Given the description of an element on the screen output the (x, y) to click on. 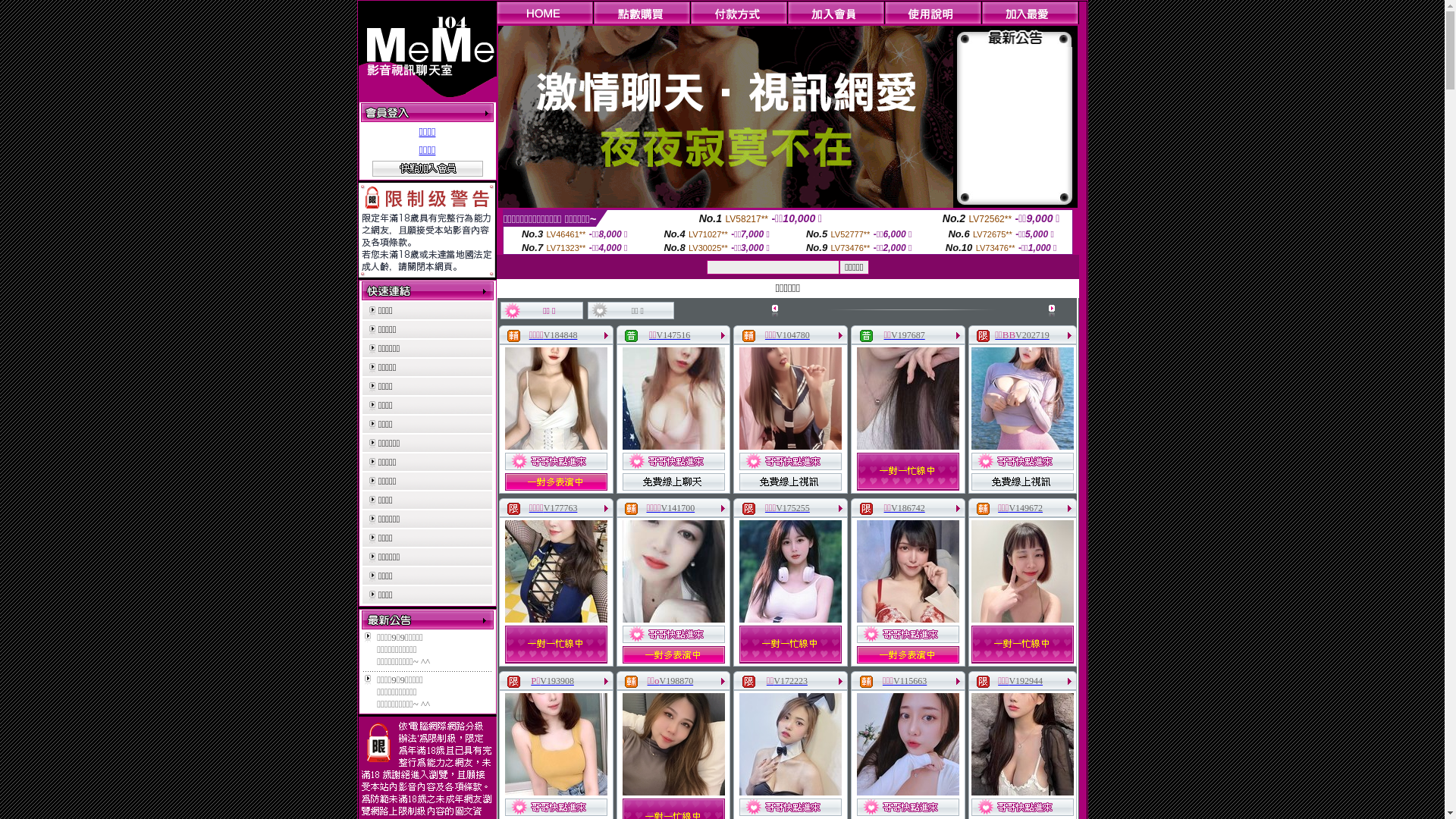
V147516 Element type: text (673, 334)
V172223 Element type: text (790, 680)
V186742 Element type: text (908, 507)
V149672 Element type: text (1025, 507)
V197687 Element type: text (908, 334)
V141700 Element type: text (677, 507)
V104780 Element type: text (792, 334)
V198870 Element type: text (676, 680)
V192944 Element type: text (1025, 680)
V184848 Element type: text (560, 334)
V193908 Element type: text (556, 680)
V175255 Element type: text (792, 507)
V115663 Element type: text (909, 680)
V202719 Element type: text (1032, 334)
V177763 Element type: text (560, 507)
